Given the description of an element on the screen output the (x, y) to click on. 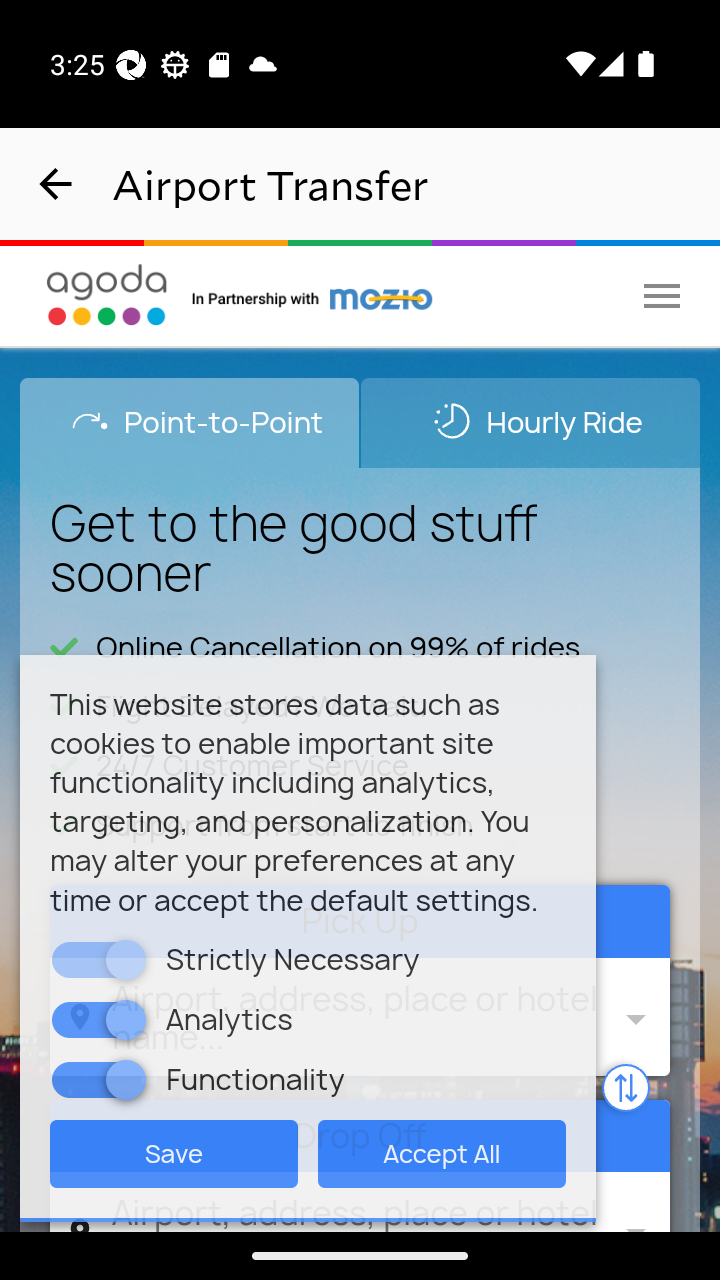
navigation_button (56, 184)
agoda.mozio (313, 295)
menu (661, 295)
Point-to-Point (190, 422)
Hourly Ride (529, 422)
Strictly Necessary (125, 959)
Analytics (125, 1018)
Functionality (125, 1078)
Save (173, 1152)
Accept All (441, 1152)
